Given the description of an element on the screen output the (x, y) to click on. 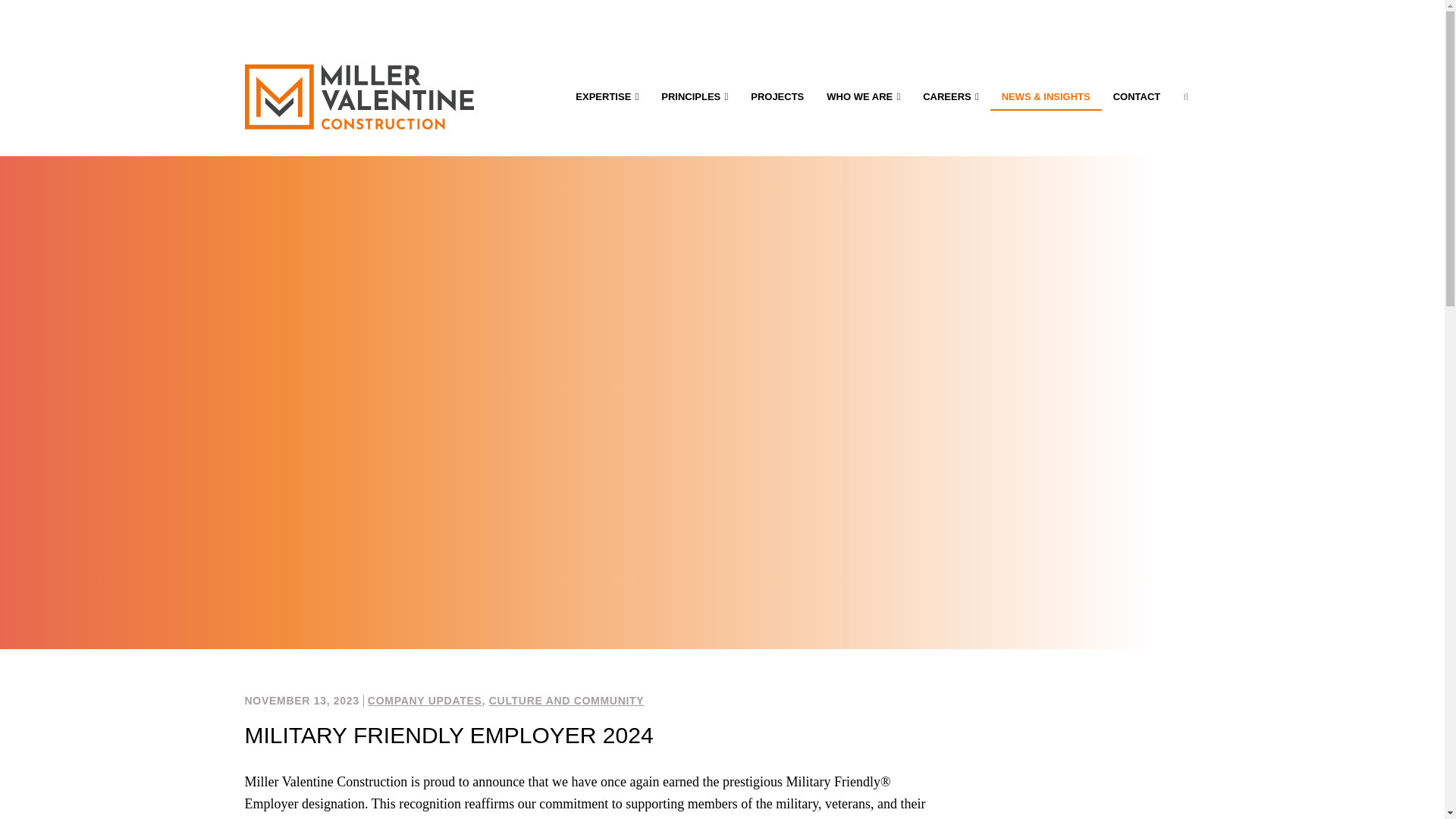
PROJECTS (777, 96)
CAREERS (950, 96)
CONTACT (1137, 96)
PRINCIPLES (694, 96)
COMPANY UPDATES (424, 700)
EXPERTISE (606, 96)
WHO WE ARE (863, 96)
CULTURE AND COMMUNITY (567, 700)
MV INVESTMENT (951, 18)
